Given the description of an element on the screen output the (x, y) to click on. 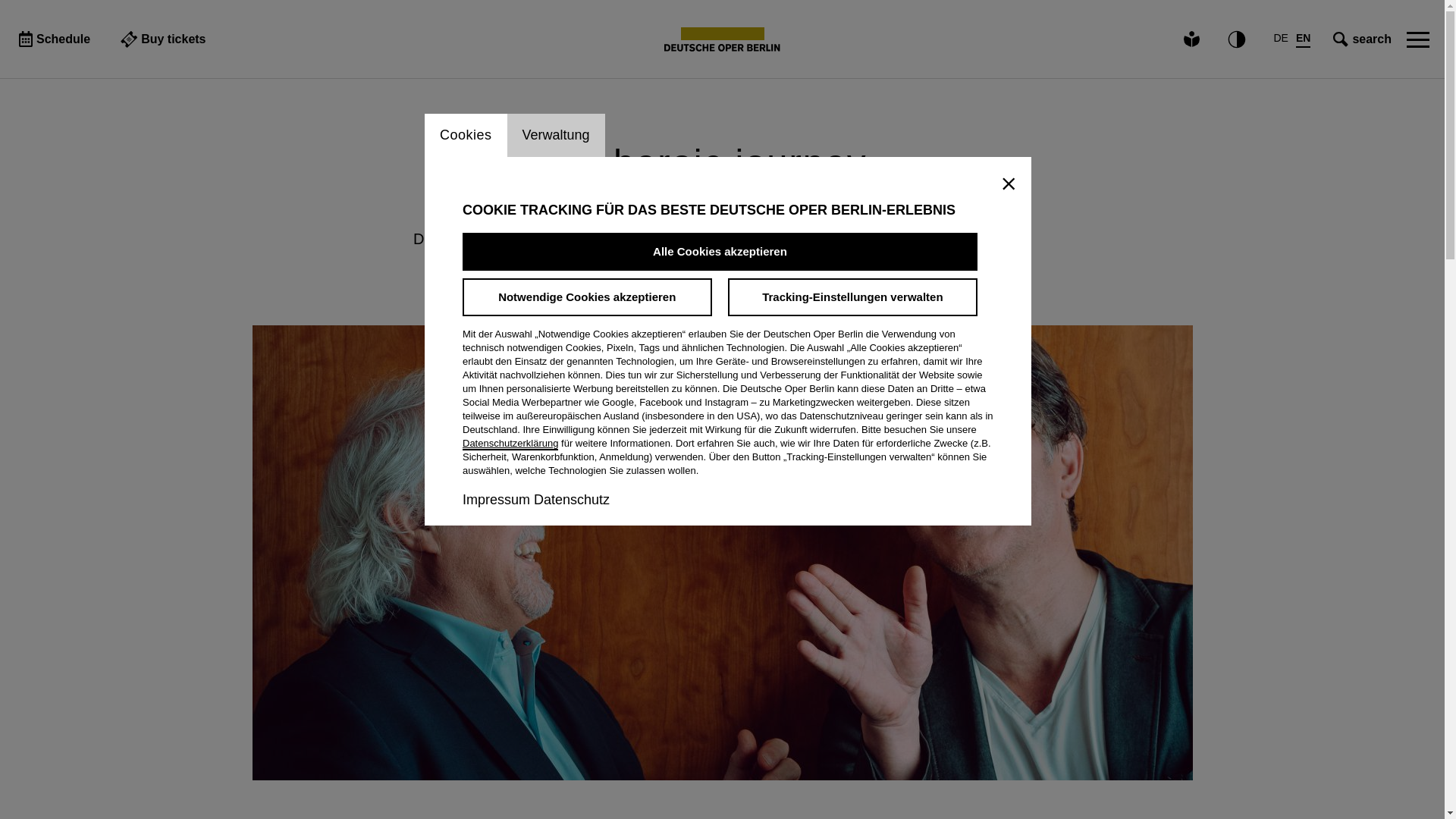
Search - Deutsche Oper Berlin (721, 39)
Start Simple Languages (1191, 38)
Easy Language (1191, 38)
Kontrastmodus starten (1235, 39)
search (1360, 38)
Kontrastmodus starten (1235, 39)
Schedule (52, 38)
Open navigation (1417, 38)
Search keyword (1337, 38)
